Given the description of an element on the screen output the (x, y) to click on. 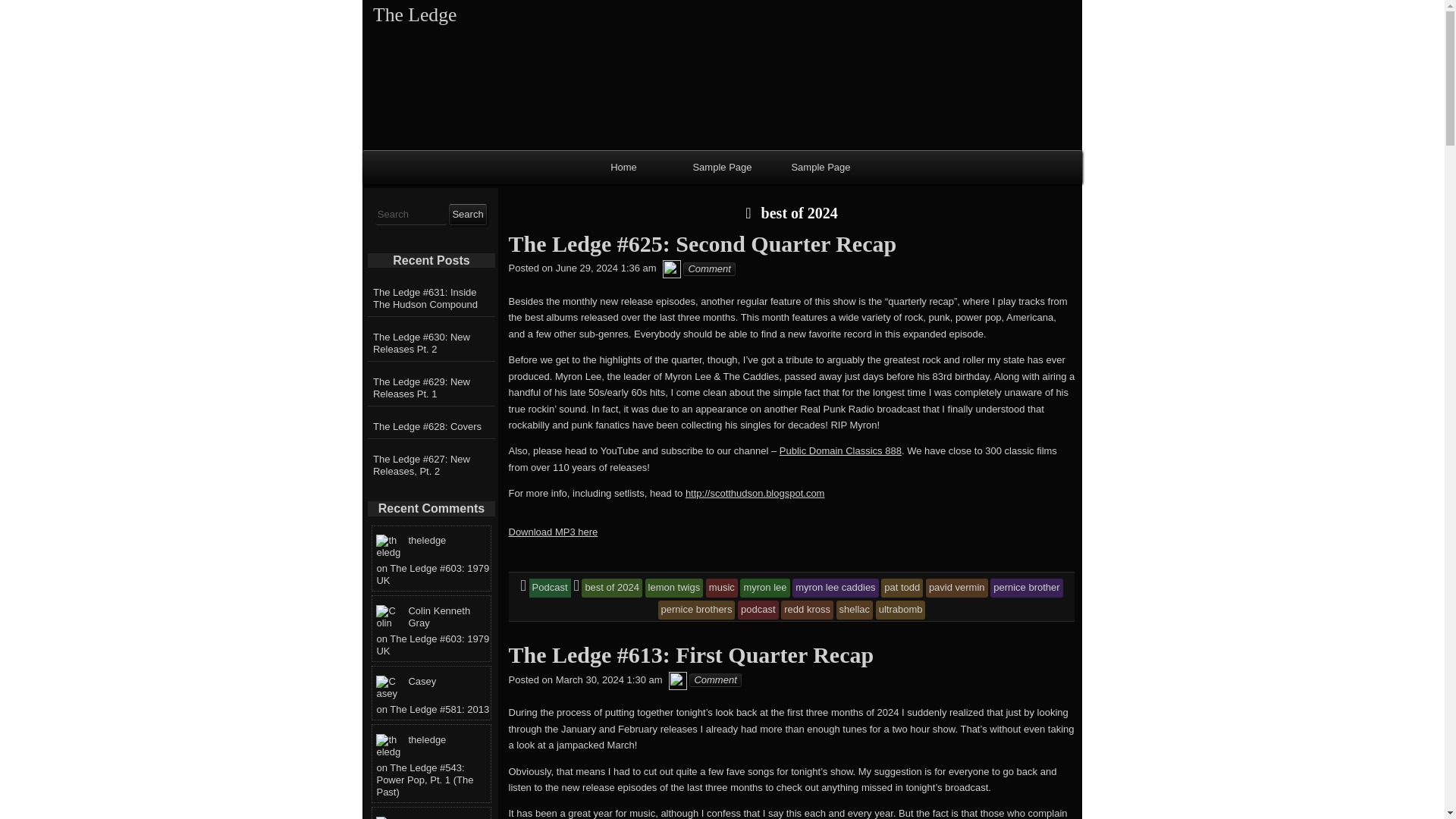
music (722, 586)
pernice brothers (696, 609)
ultrabomb (901, 609)
myron lee caddies (835, 586)
Download MP3 here (552, 531)
theledge (677, 679)
pavid vermin (957, 586)
pernice brother (1026, 586)
March 30, 2024 1:30 am (609, 679)
lemon twigs (674, 586)
